Given the description of an element on the screen output the (x, y) to click on. 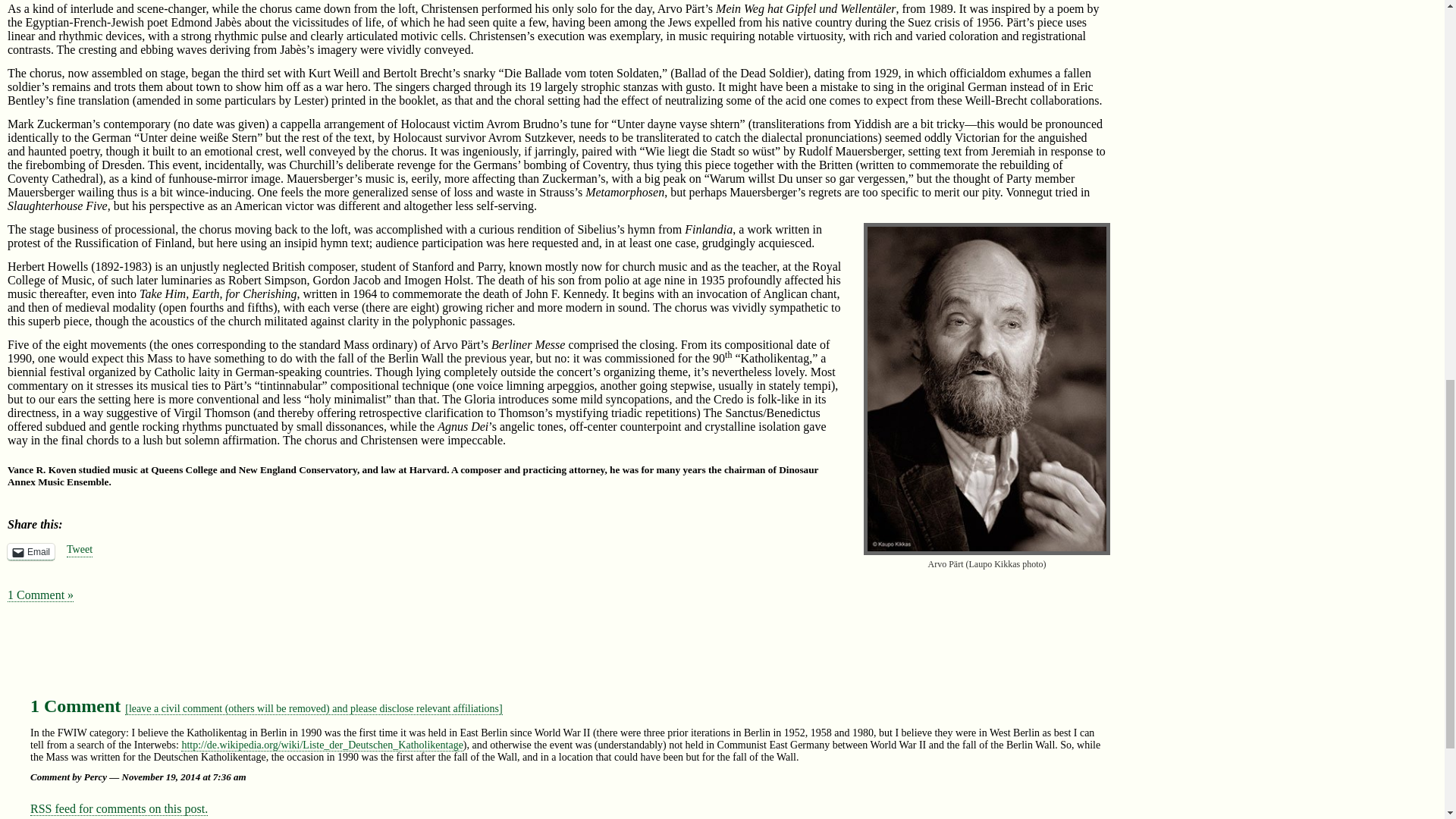
Leave a comment (313, 708)
Really Simple Syndication (40, 808)
RSS feed for comments on this post. (119, 808)
Email (31, 551)
Tweet (79, 550)
Click to email a link to a friend (31, 551)
